Given the description of an element on the screen output the (x, y) to click on. 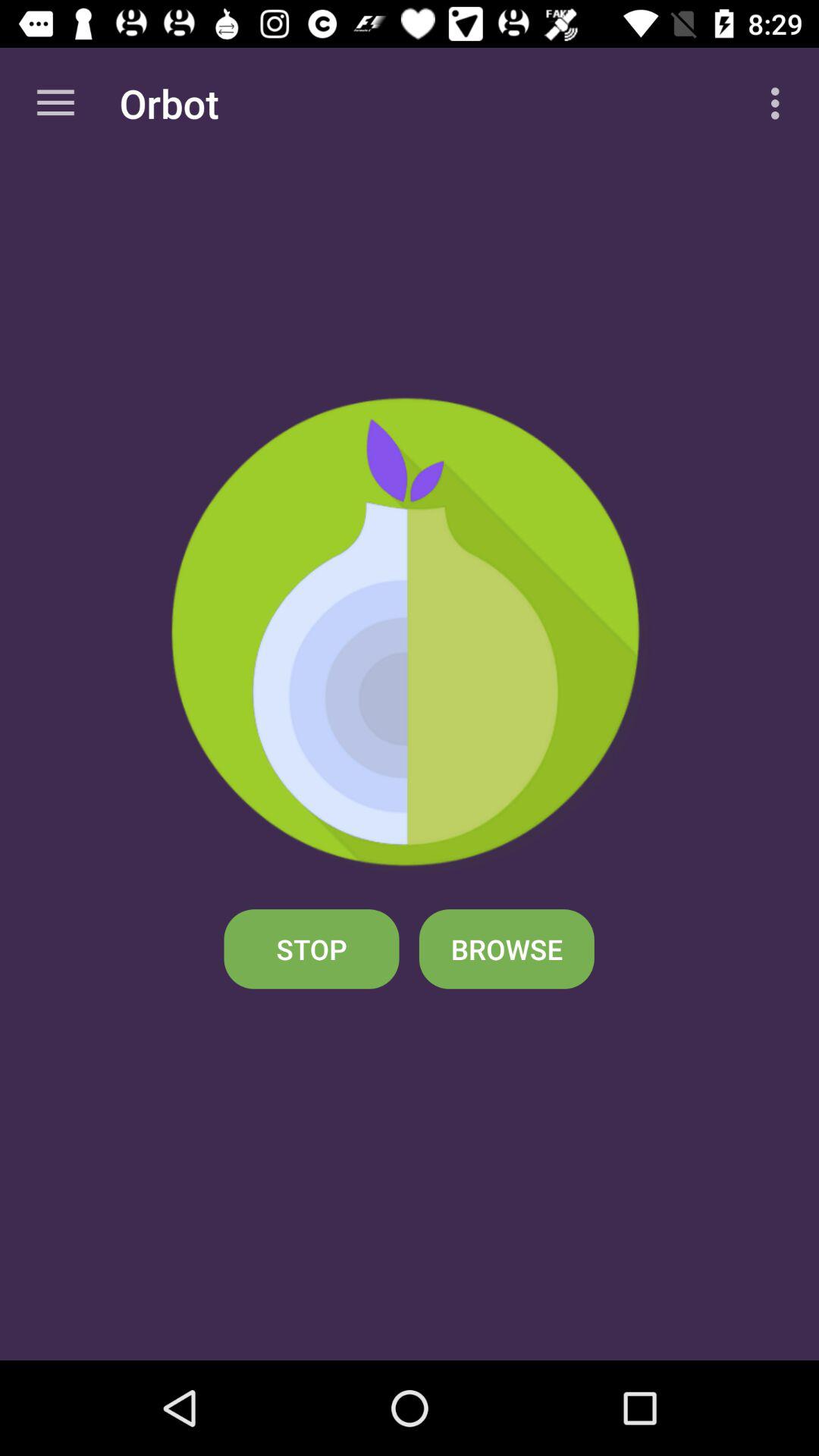
open icon to the right of orbot item (779, 103)
